Given the description of an element on the screen output the (x, y) to click on. 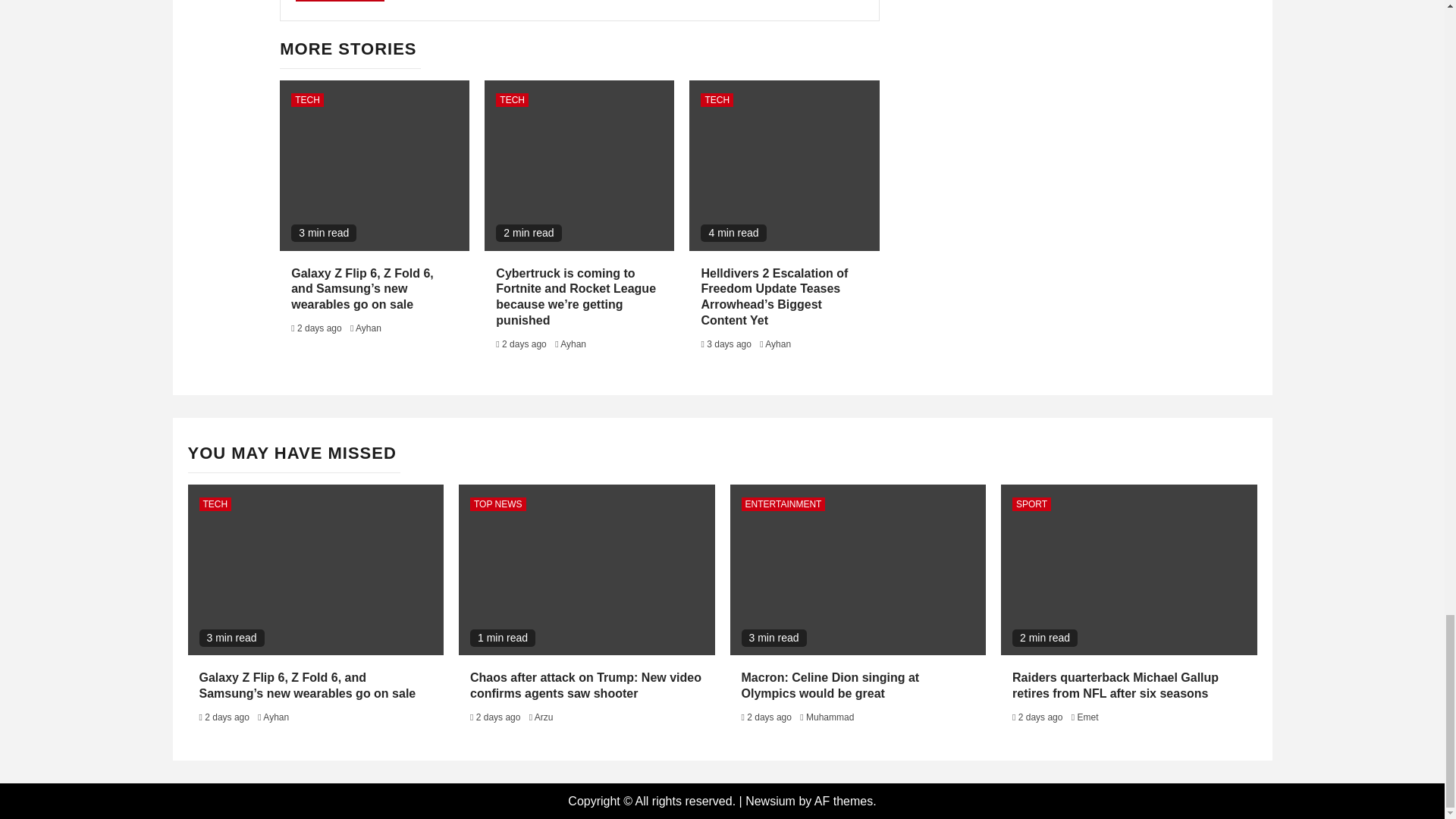
Ayhan (573, 344)
TECH (512, 100)
Ayhan (777, 344)
Ayhan (368, 327)
Post Comment (339, 0)
TECH (307, 100)
TECH (716, 100)
Post Comment (339, 0)
